Given the description of an element on the screen output the (x, y) to click on. 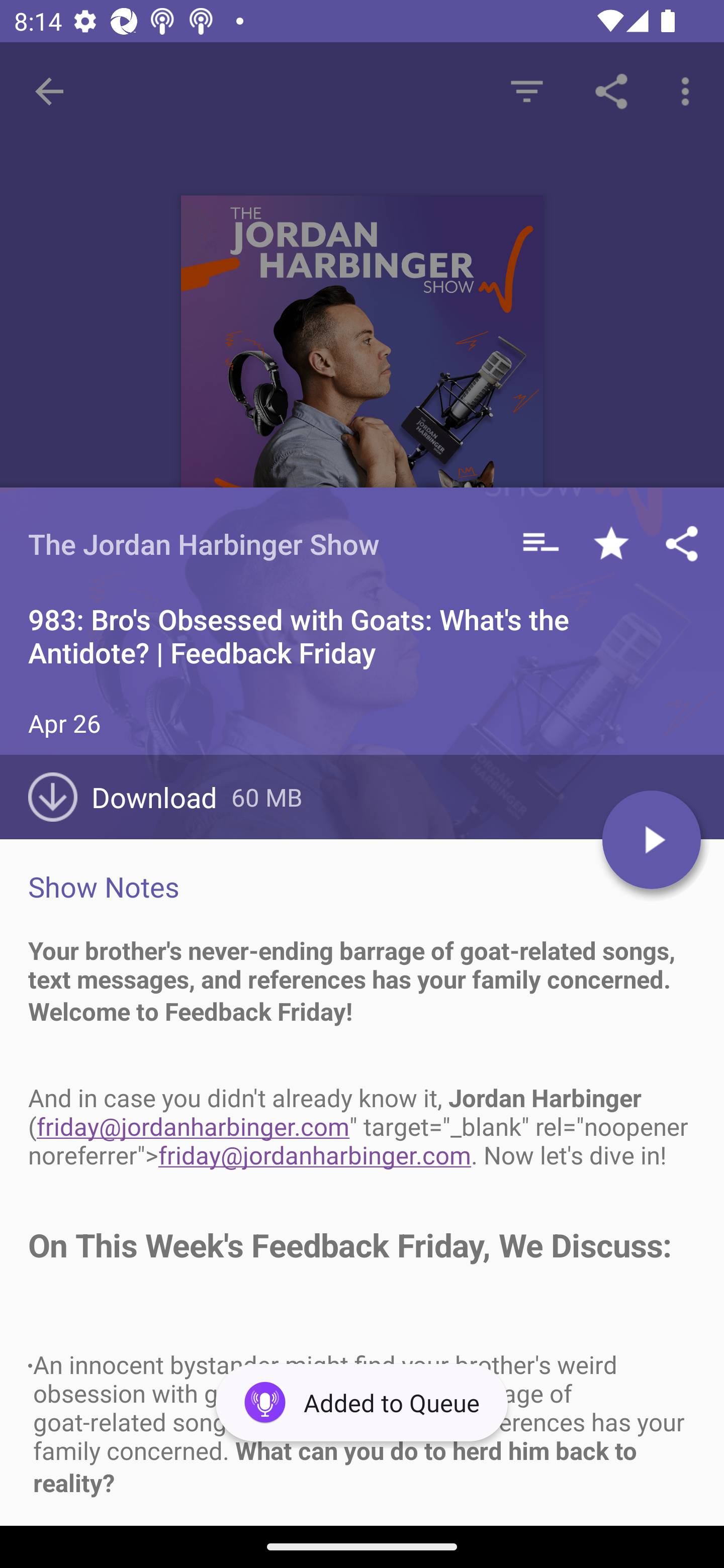
Download (129, 797)
